Given the description of an element on the screen output the (x, y) to click on. 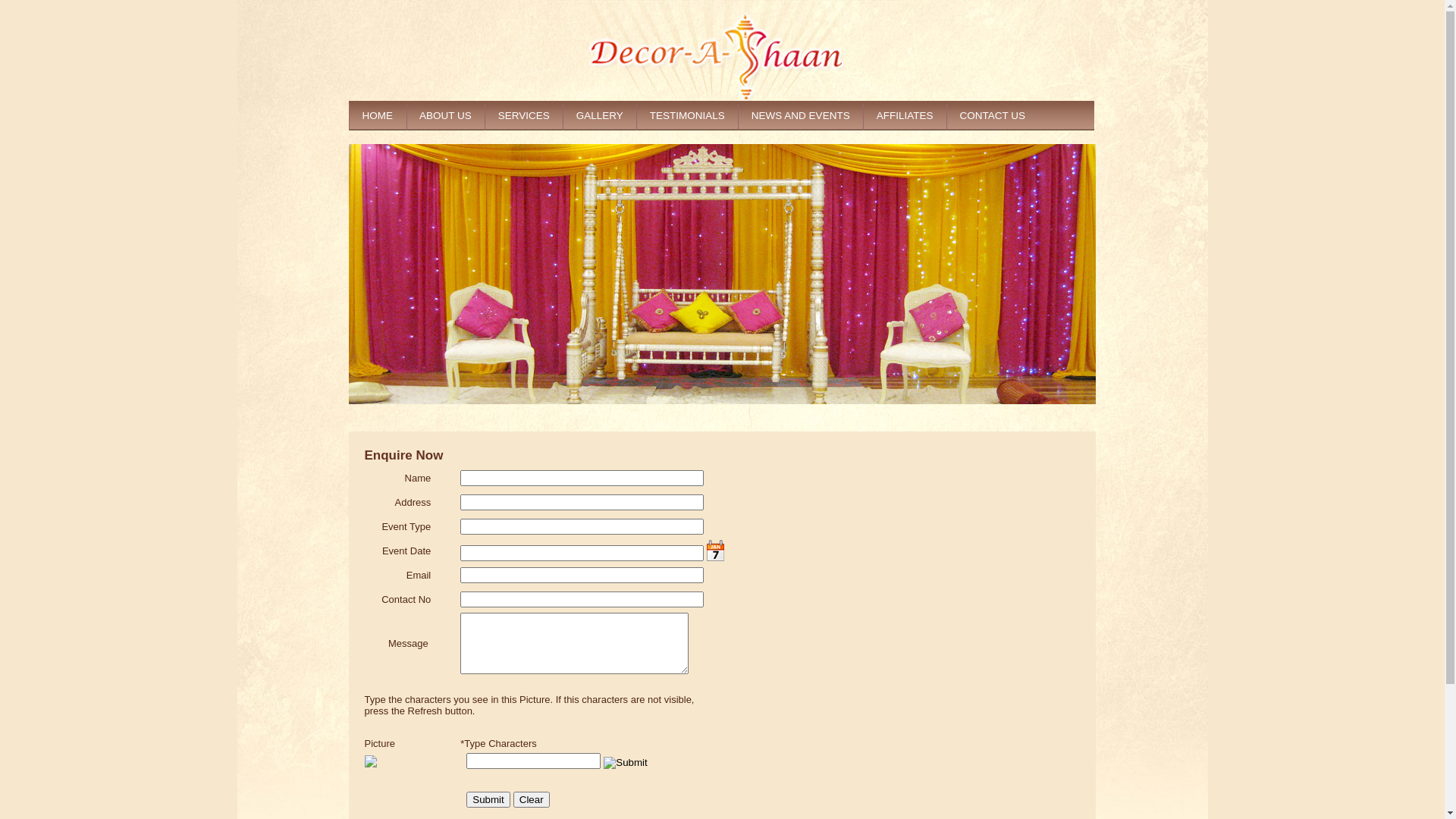
NEWS AND EVENTS Element type: text (799, 115)
TESTIMONIALS Element type: text (686, 115)
GALLERY Element type: text (599, 115)
ABOUT US Element type: text (445, 115)
AFFILIATES Element type: text (904, 115)
HOME Element type: text (377, 115)
CONTACT US Element type: text (992, 115)
Submit Element type: text (487, 799)
SERVICES Element type: text (523, 115)
